Given the description of an element on the screen output the (x, y) to click on. 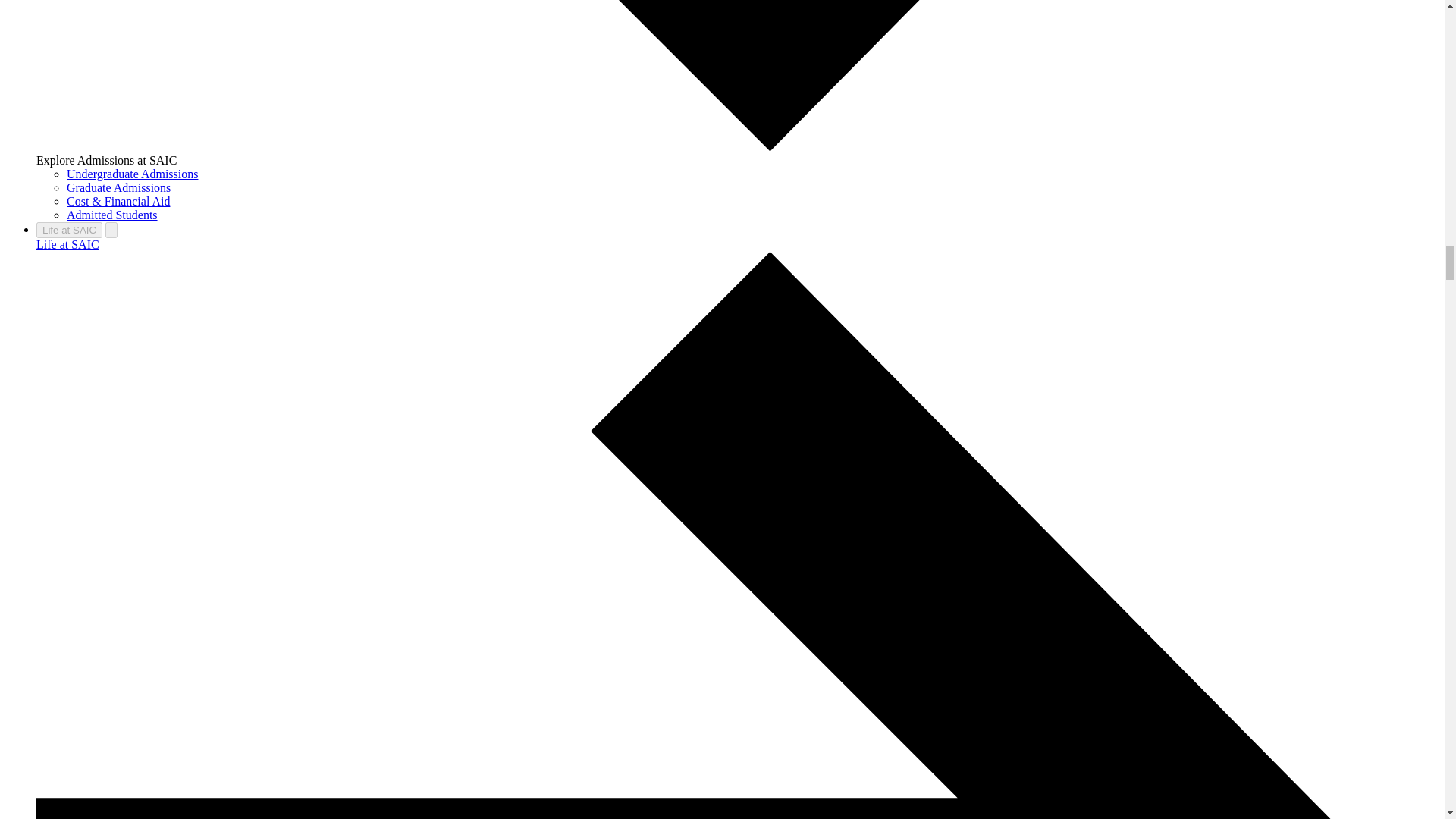
Graduate Admissions (118, 187)
Admitted Students (111, 214)
Life at SAIC (68, 229)
Undergraduate Admissions (132, 173)
Life at SAIC (67, 244)
